Given the description of an element on the screen output the (x, y) to click on. 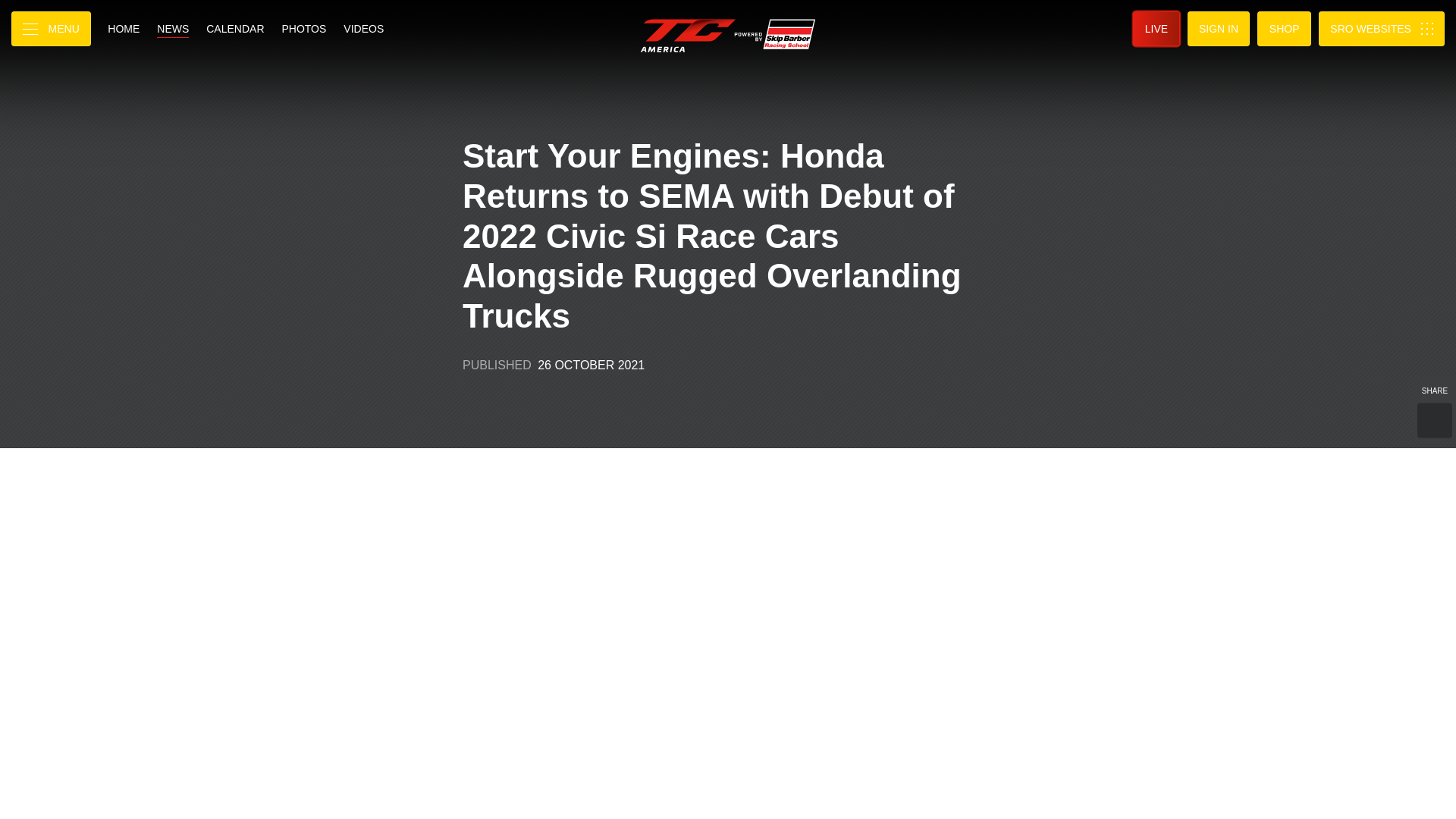
MENU (50, 28)
NEWS (172, 28)
HOME (123, 28)
